Given the description of an element on the screen output the (x, y) to click on. 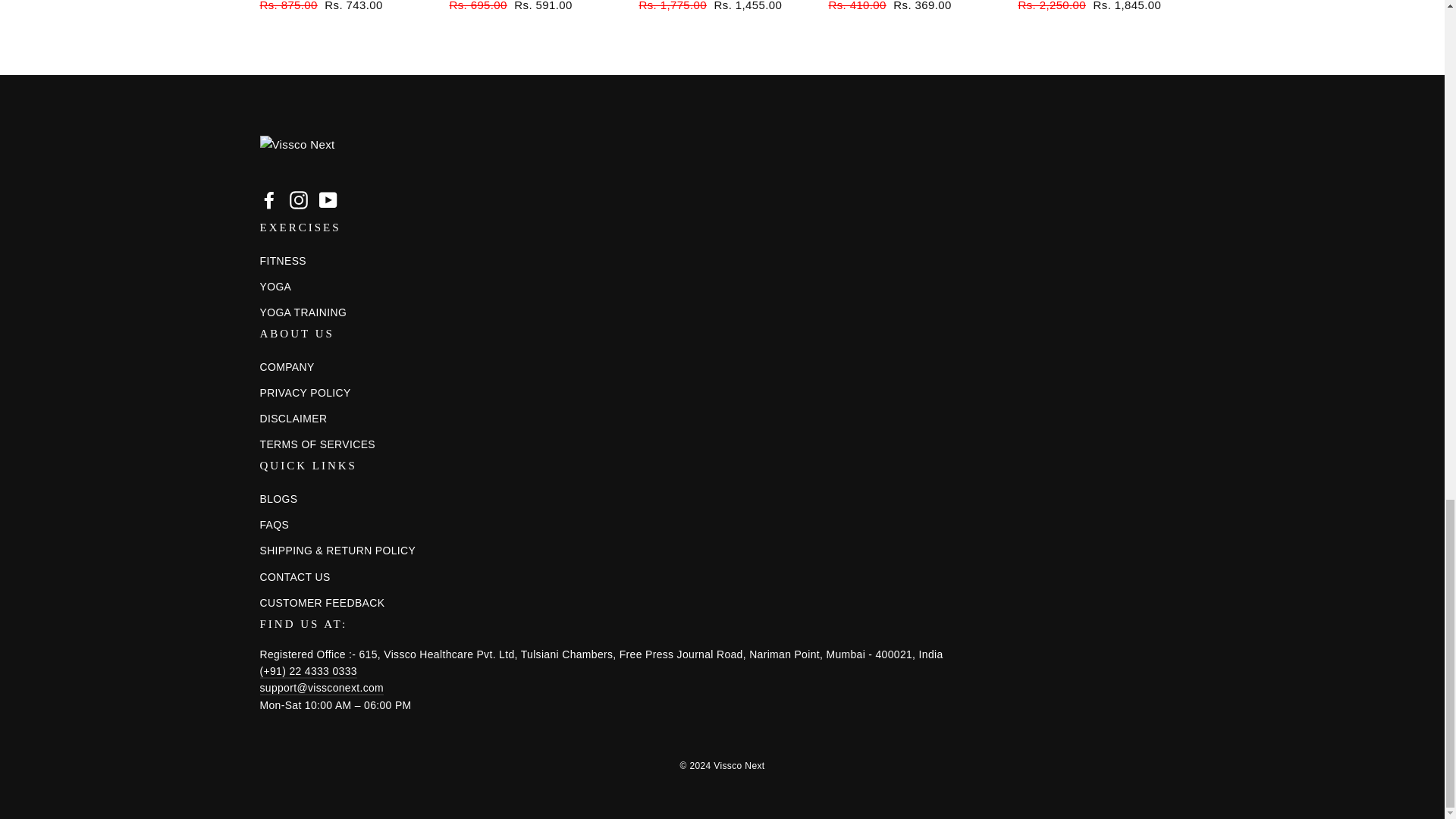
Vissco Next on Instagram (298, 199)
Vissco Next on Facebook (268, 199)
Vissco Next on YouTube (327, 199)
